Given the description of an element on the screen output the (x, y) to click on. 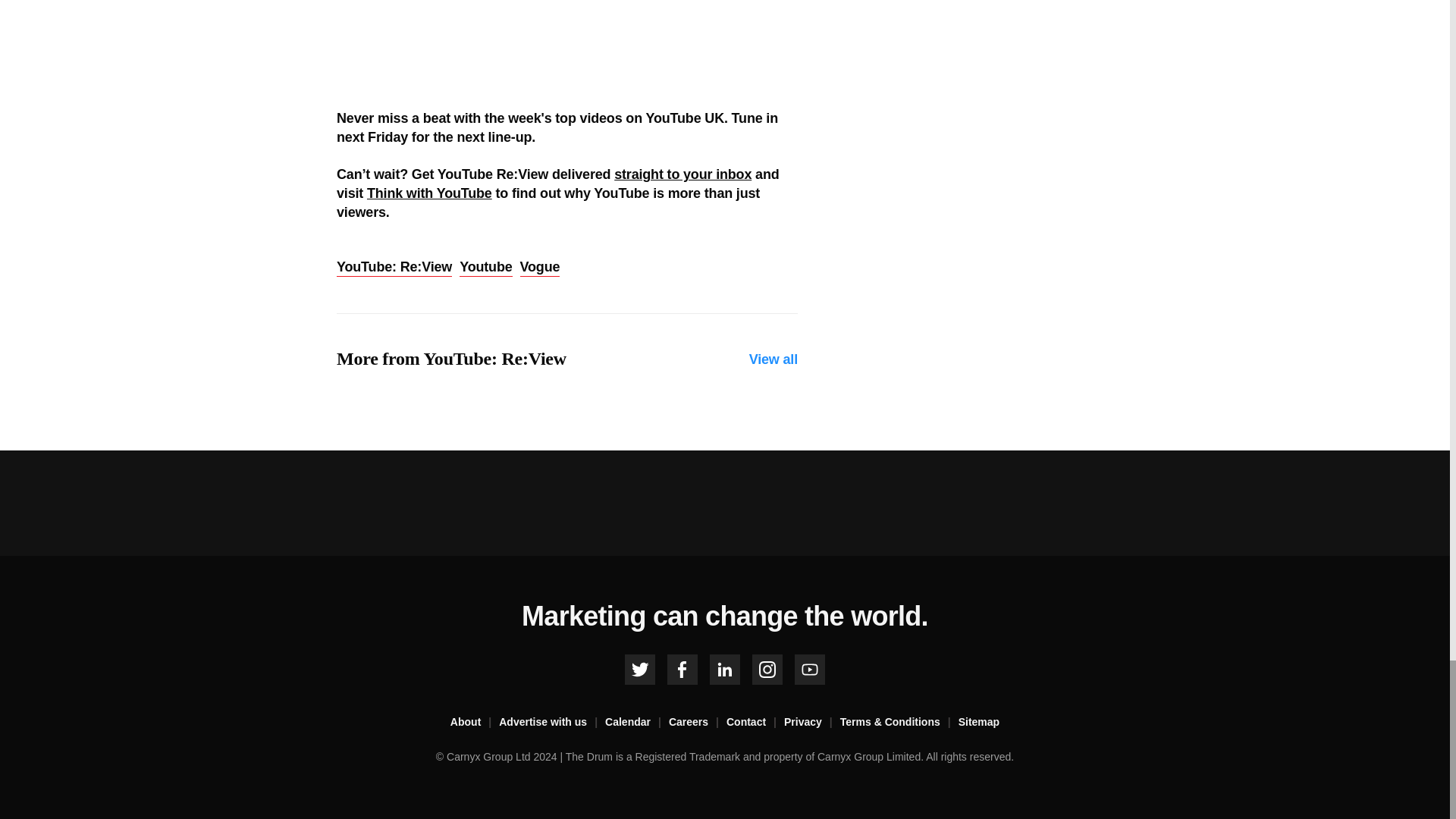
About (474, 722)
YouTube: Re:View (393, 267)
Advertise with us (552, 722)
straight to your inbox (682, 174)
Vogue (539, 267)
Think with YouTube (429, 192)
Youtube (486, 267)
View all (773, 359)
